Given the description of an element on the screen output the (x, y) to click on. 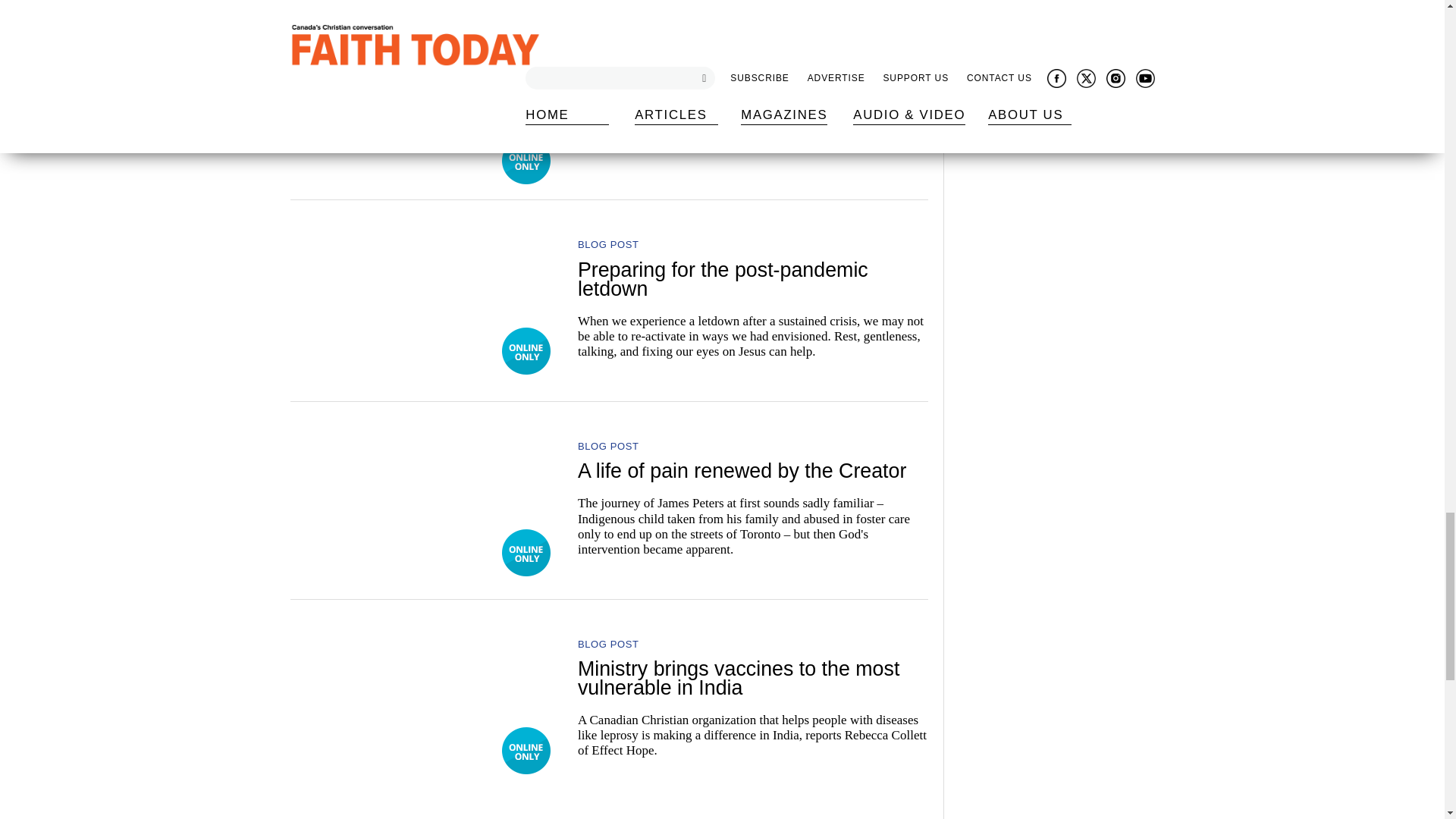
Two women wearing pandemic masks (423, 291)
jamie-street-fireworks-hBzrr6m6-pc-unsplash (423, 100)
Covid-vaccines-in-India-Effect-Hope (423, 690)
